Given the description of an element on the screen output the (x, y) to click on. 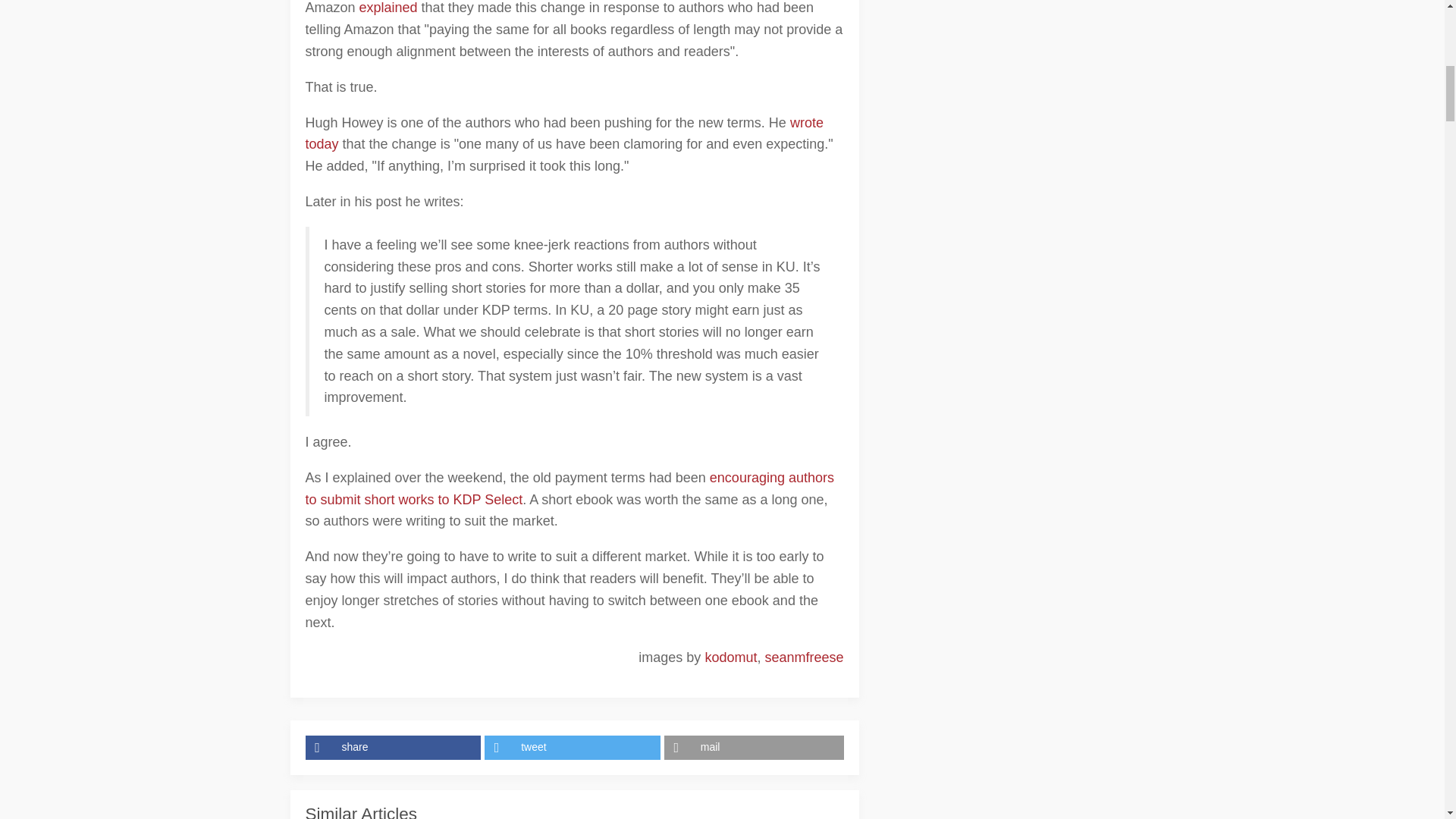
share (394, 747)
encouraging authors to submit short works to KDP Select (568, 488)
wrote today (563, 133)
kodomut (730, 657)
tweet (573, 747)
mail (753, 747)
seanmfreese (803, 657)
explained (388, 7)
